Given the description of an element on the screen output the (x, y) to click on. 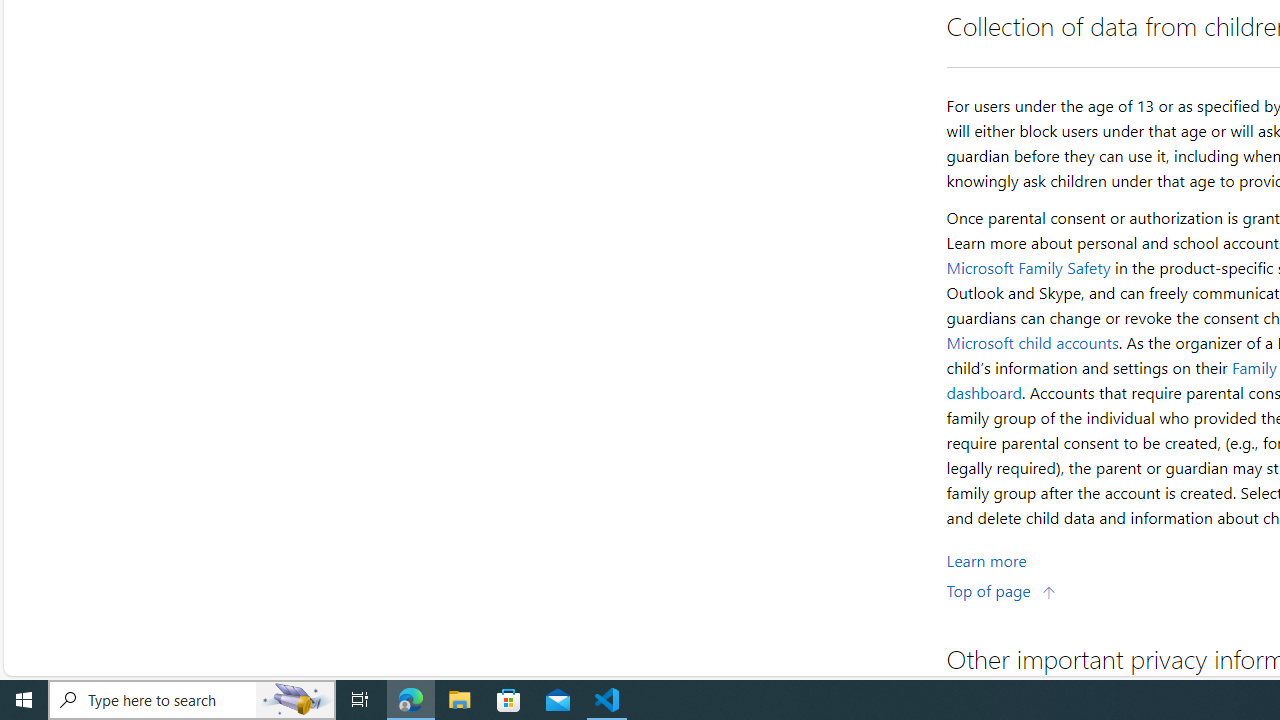
Microsoft Family Safety (1028, 267)
Learn More about Collection of data from children (985, 560)
Top of page (1001, 589)
